Given the description of an element on the screen output the (x, y) to click on. 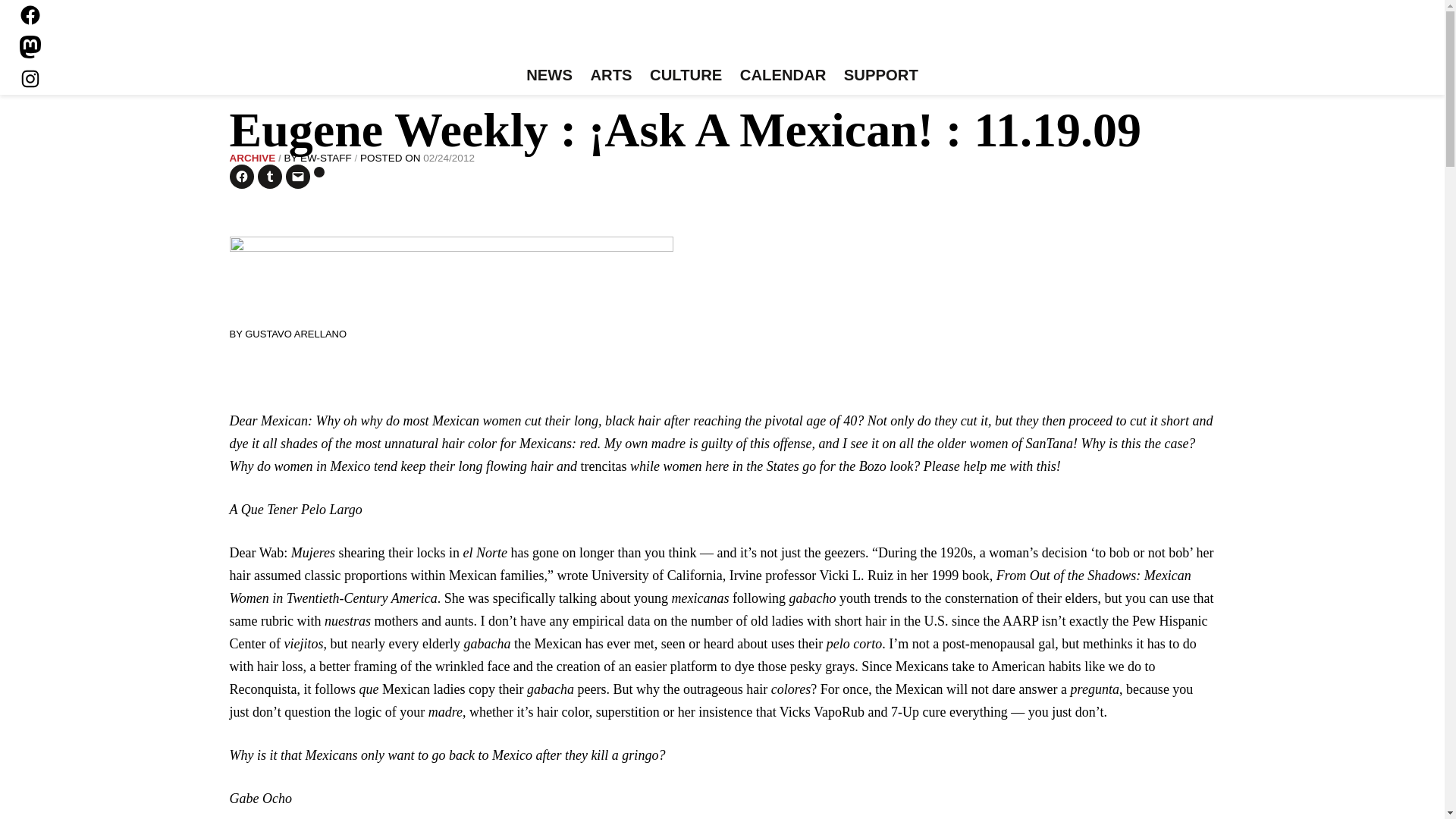
CULTURE (685, 75)
ARTS (611, 75)
CALENDAR (782, 75)
NEWS (548, 75)
Mastodon (30, 47)
Eugene Weekly (721, 37)
Facebook (30, 15)
Instagram (30, 78)
Click to print (319, 172)
Click to email a link to a friend (296, 176)
Click to share on Facebook (240, 176)
SUPPORT (880, 75)
Click to share on Tumblr (269, 176)
